Given the description of an element on the screen output the (x, y) to click on. 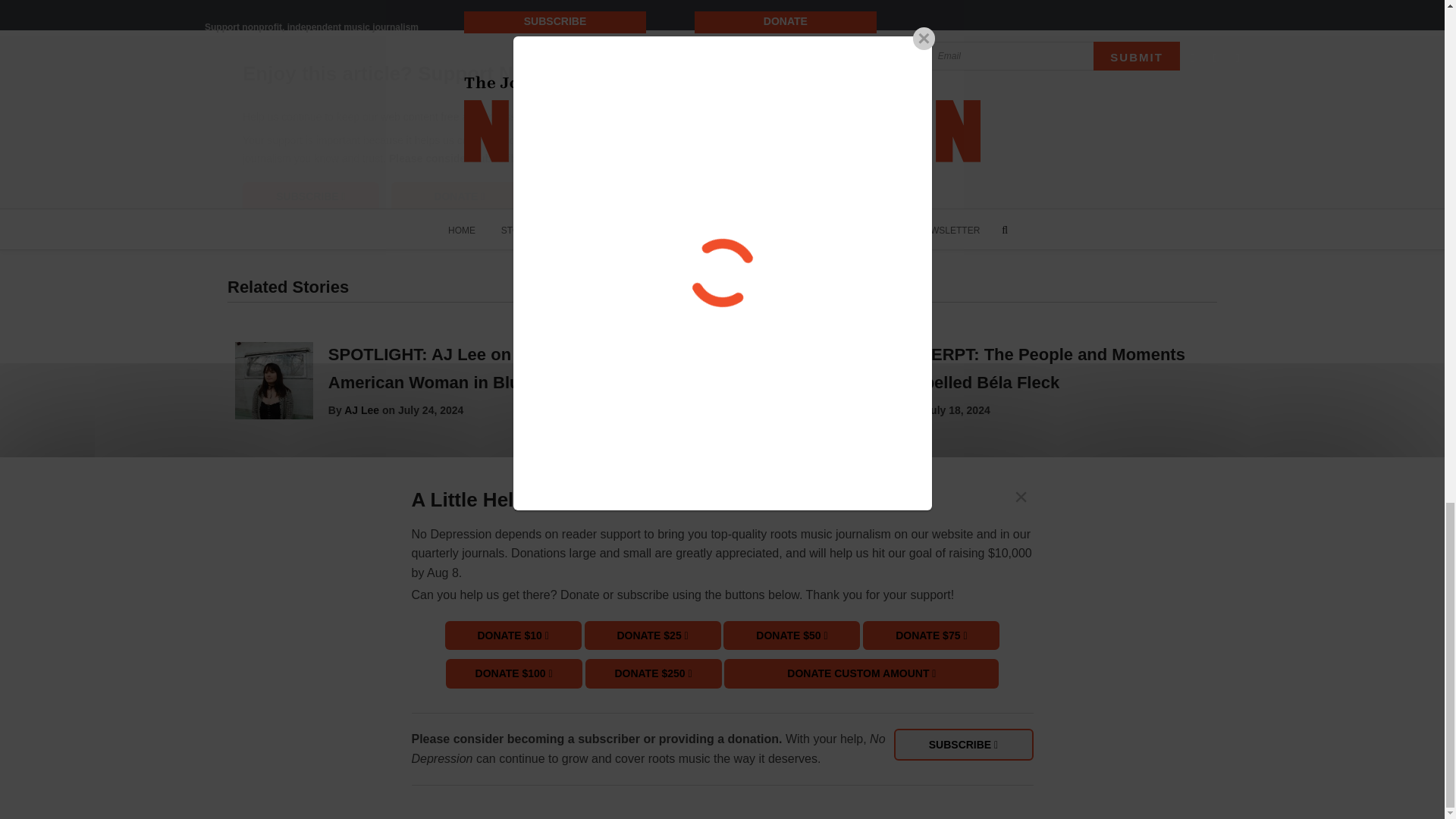
Marcus Amaker Design (471, 781)
